Given the description of an element on the screen output the (x, y) to click on. 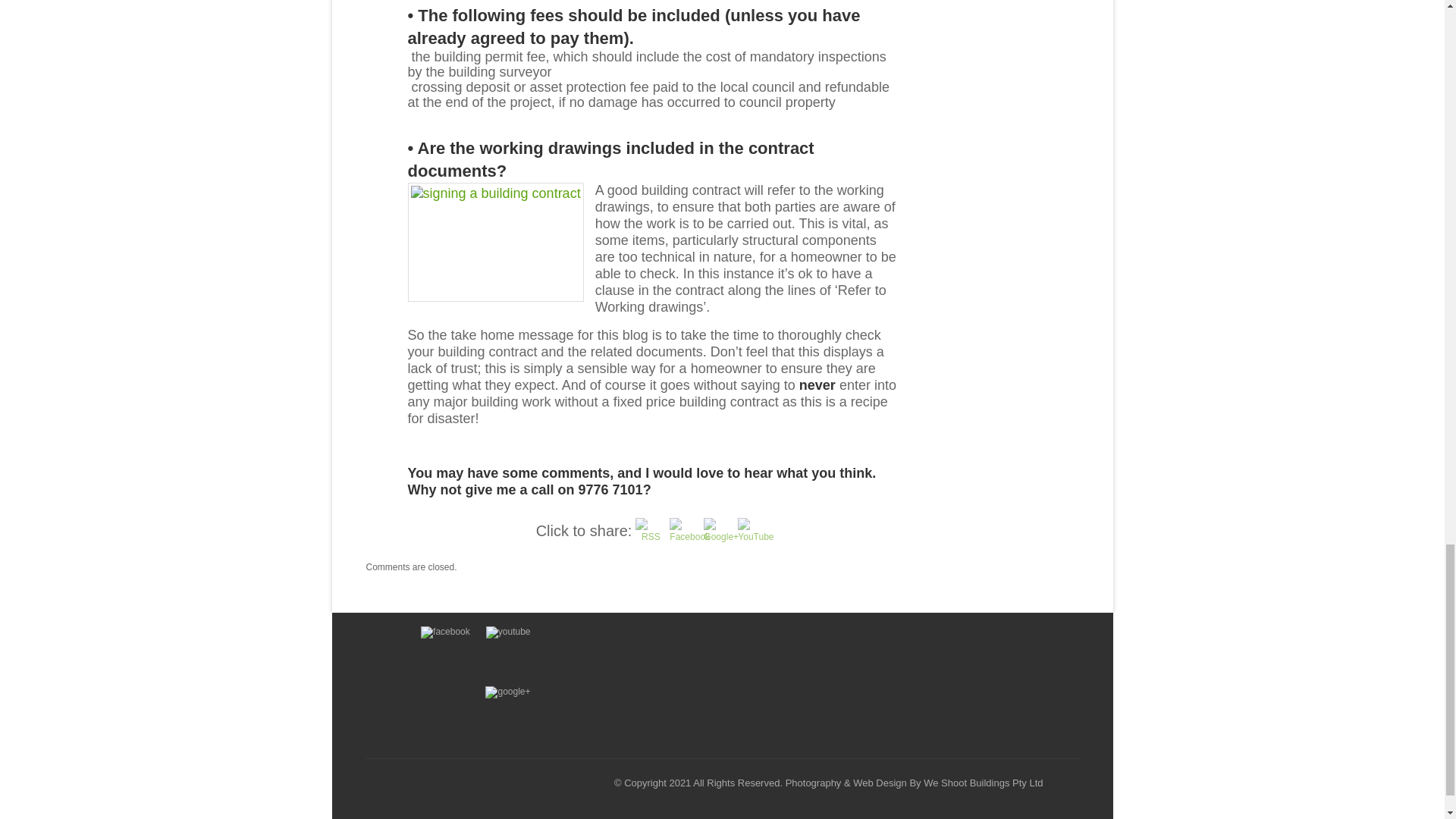
RSS (649, 532)
YouTube (755, 535)
Facebook (689, 537)
